Given the description of an element on the screen output the (x, y) to click on. 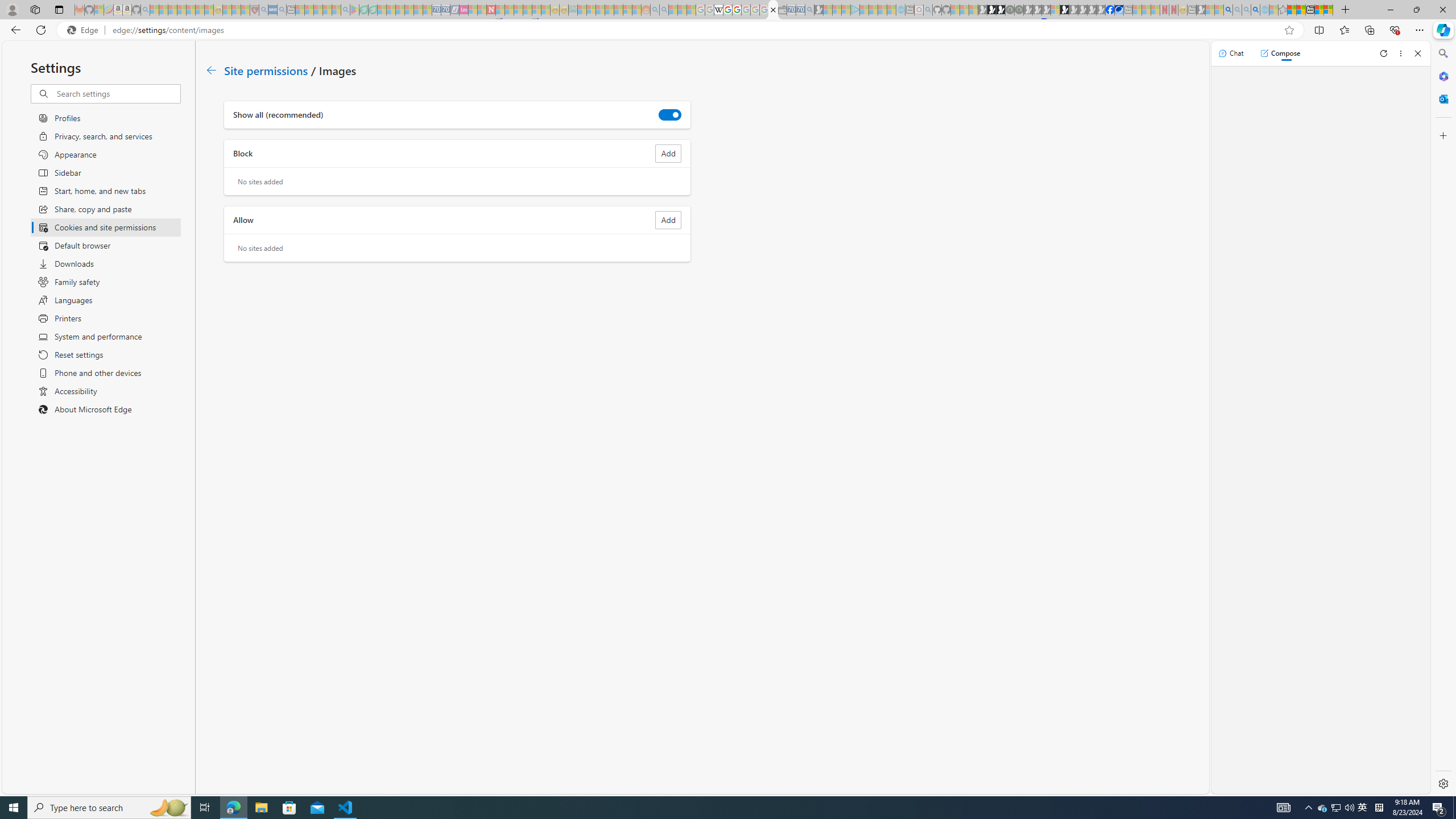
MSN - Sleeping (1200, 9)
Add site to Allow list (668, 220)
